Given the description of an element on the screen output the (x, y) to click on. 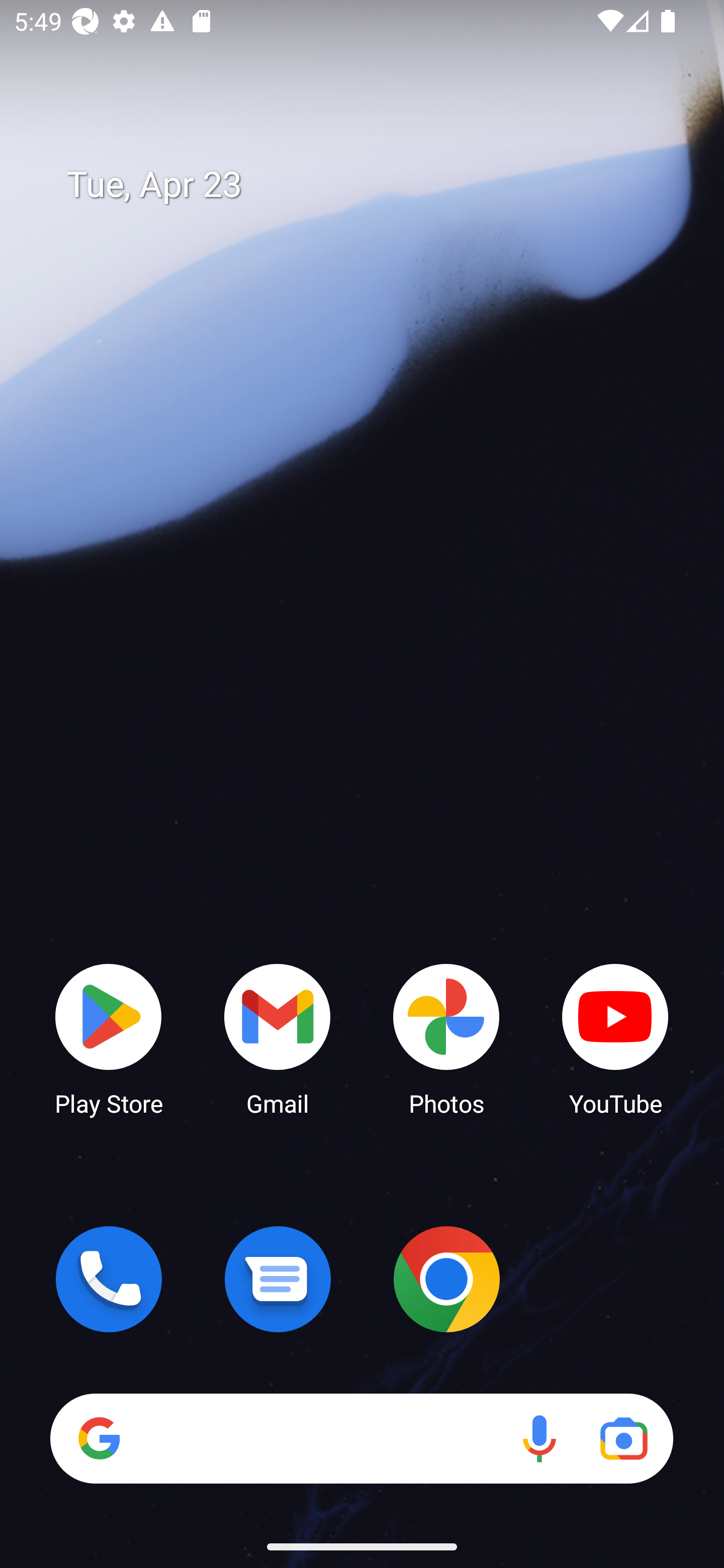
Tue, Apr 23 (375, 184)
Play Store (108, 1038)
Gmail (277, 1038)
Photos (445, 1038)
YouTube (615, 1038)
Phone (108, 1279)
Messages (277, 1279)
Chrome (446, 1279)
Search Voice search Google Lens (361, 1438)
Voice search (539, 1438)
Google Lens (623, 1438)
